Given the description of an element on the screen output the (x, y) to click on. 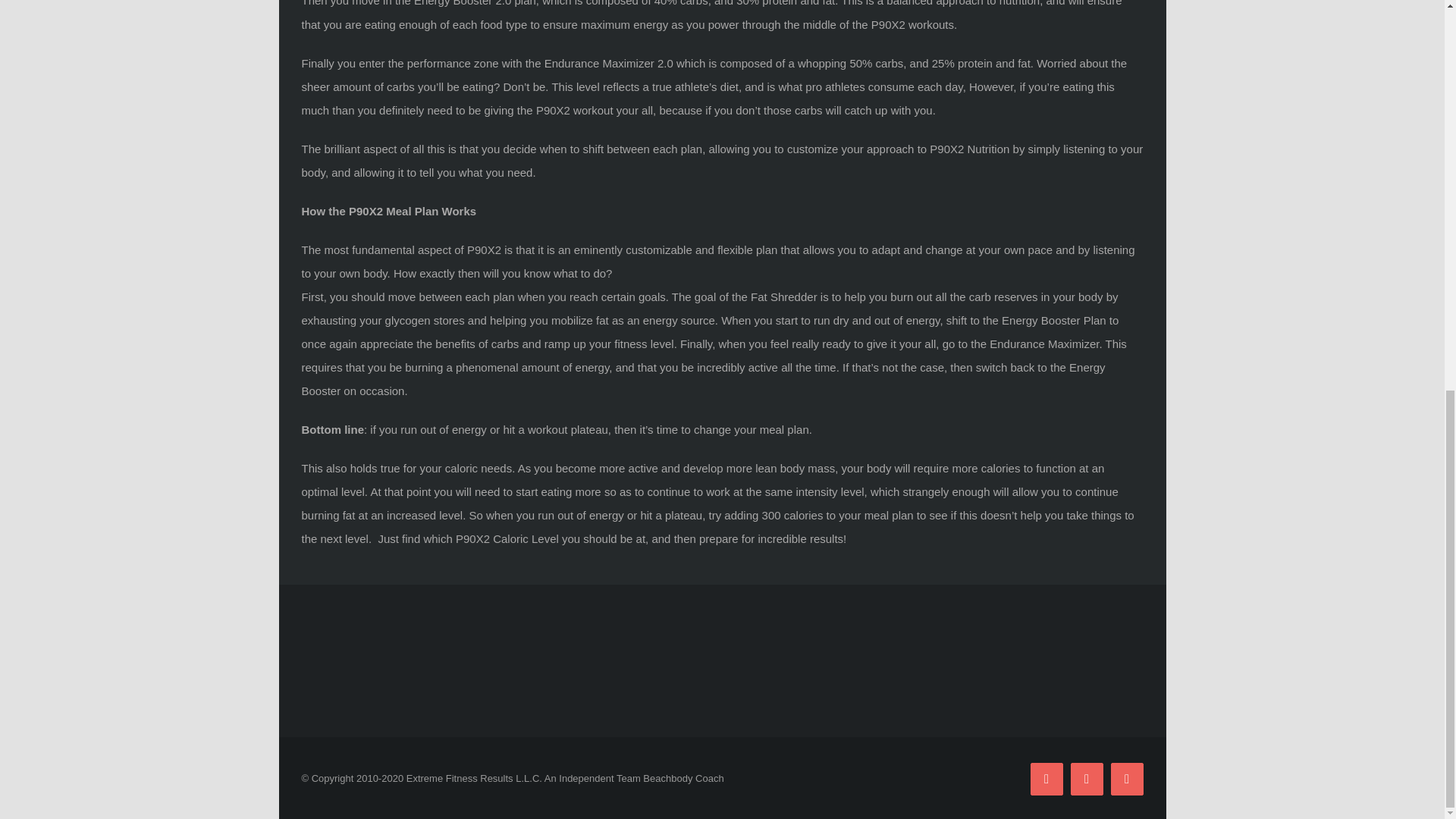
Instagram (1125, 778)
Facebook (1045, 778)
Twitter (1086, 778)
Twitter (1086, 778)
Facebook (1045, 778)
Instagram (1125, 778)
